Given the description of an element on the screen output the (x, y) to click on. 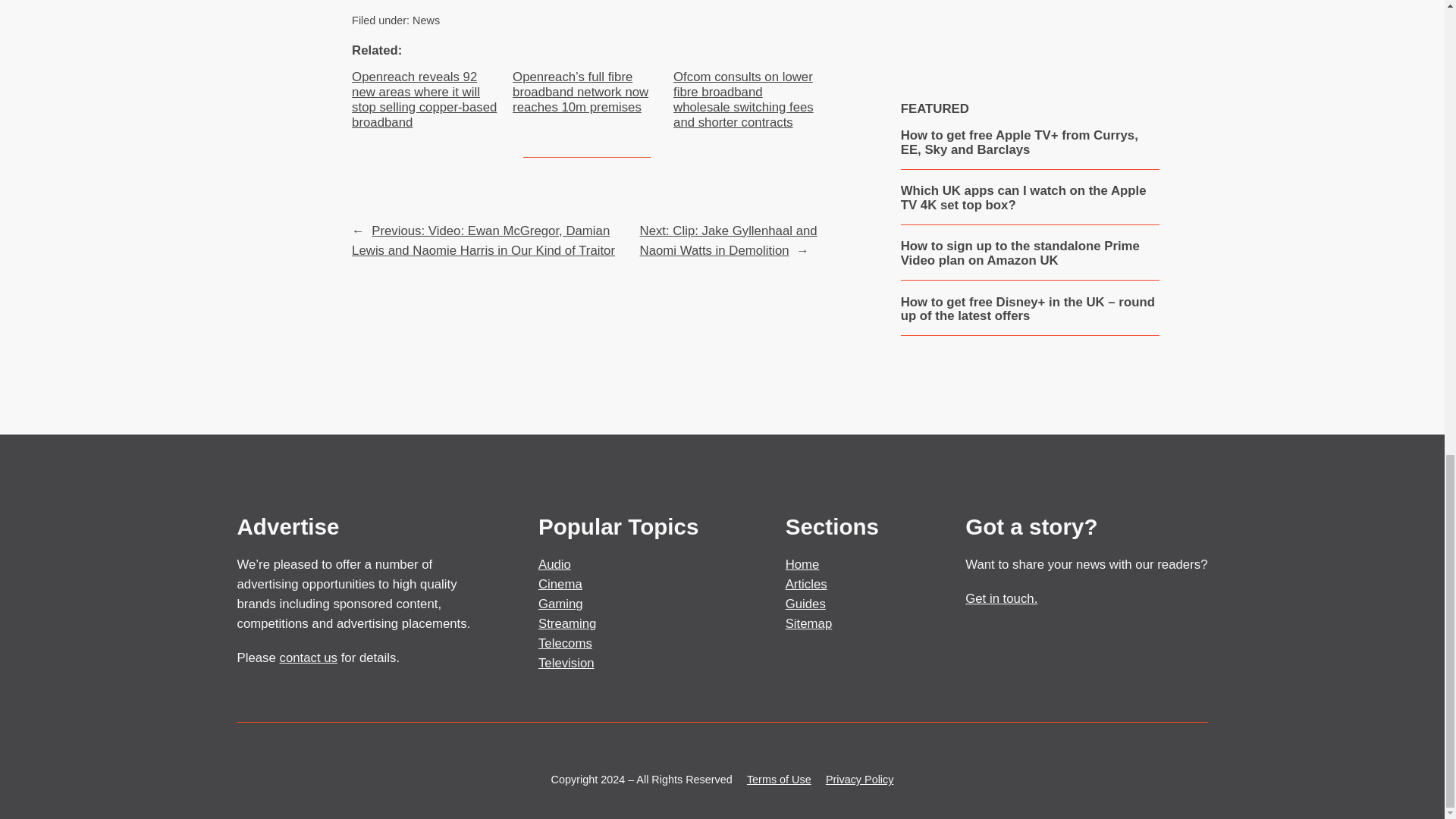
Streaming (566, 623)
Telecoms (565, 643)
contact us (308, 657)
Audio (554, 564)
Gaming (560, 603)
Articles (806, 584)
Advertisement (1028, 22)
